Given the description of an element on the screen output the (x, y) to click on. 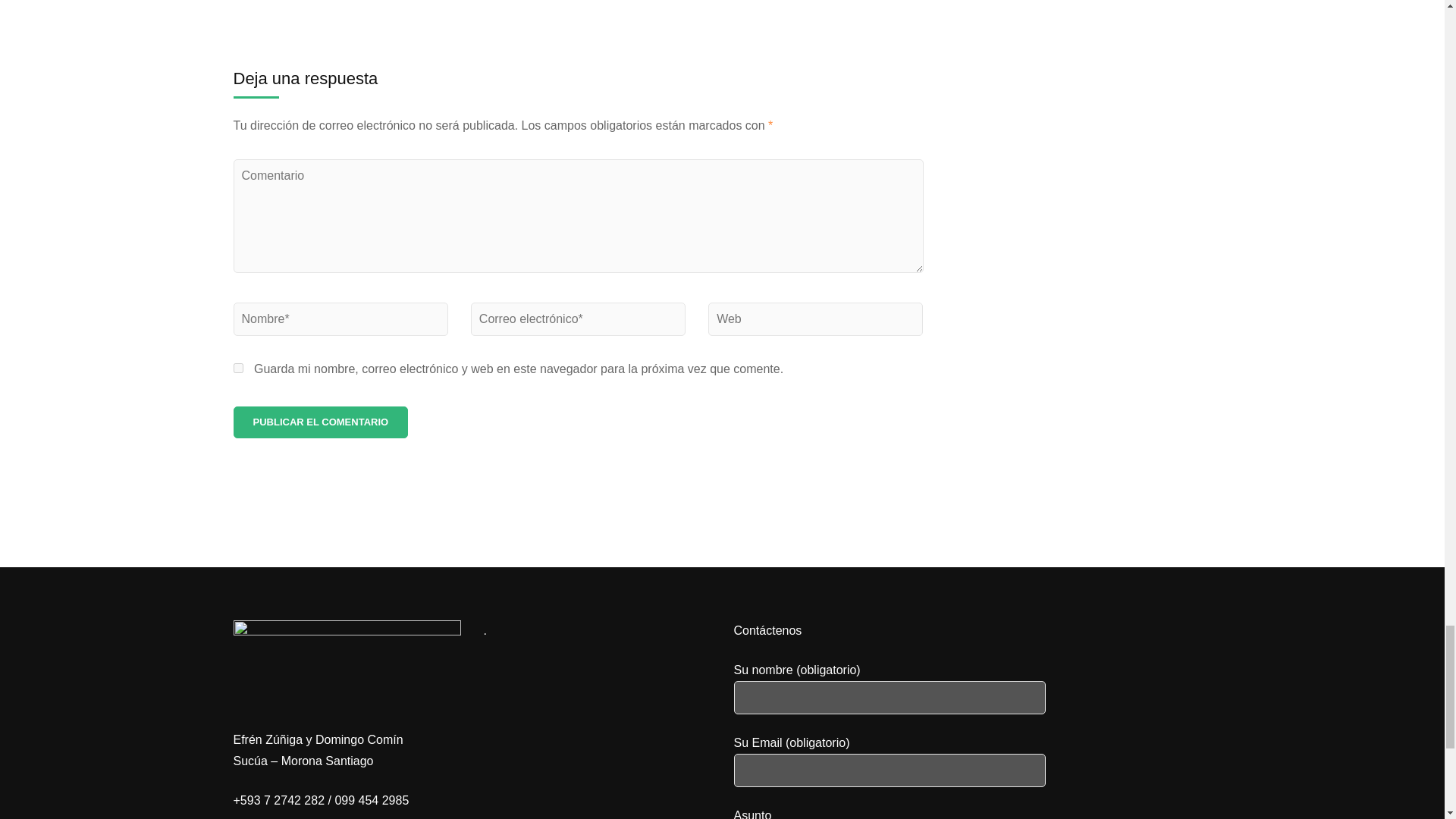
Publicar el comentario (320, 422)
yes (237, 368)
